Given the description of an element on the screen output the (x, y) to click on. 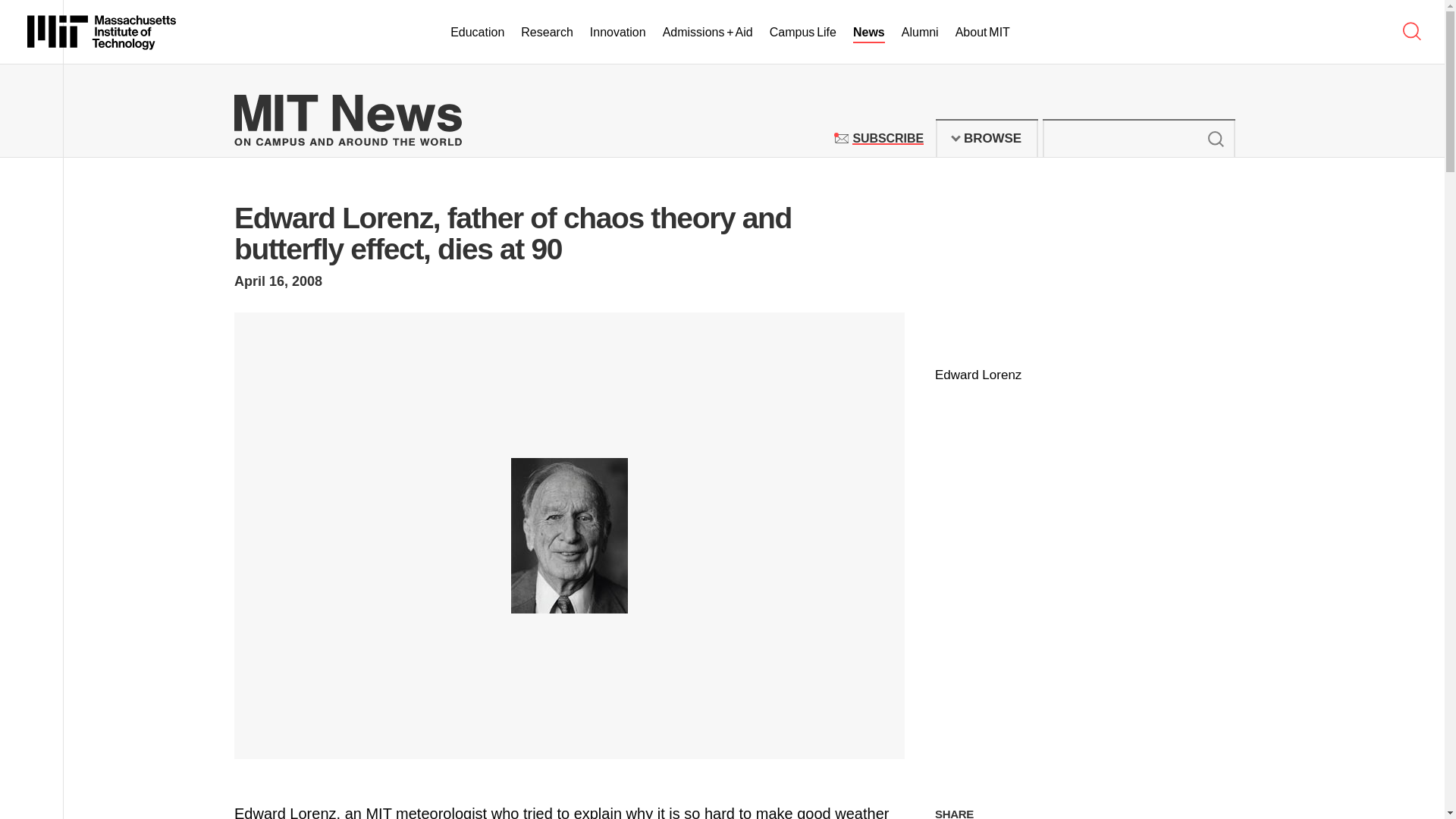
About MIT (982, 32)
Education (476, 32)
Campus Life (802, 32)
News (887, 137)
Submit (869, 32)
Massachusetts Institute of Technology (1214, 138)
Alumni (101, 32)
BROWSE (920, 32)
Innovation (987, 138)
Research (617, 32)
